Given the description of an element on the screen output the (x, y) to click on. 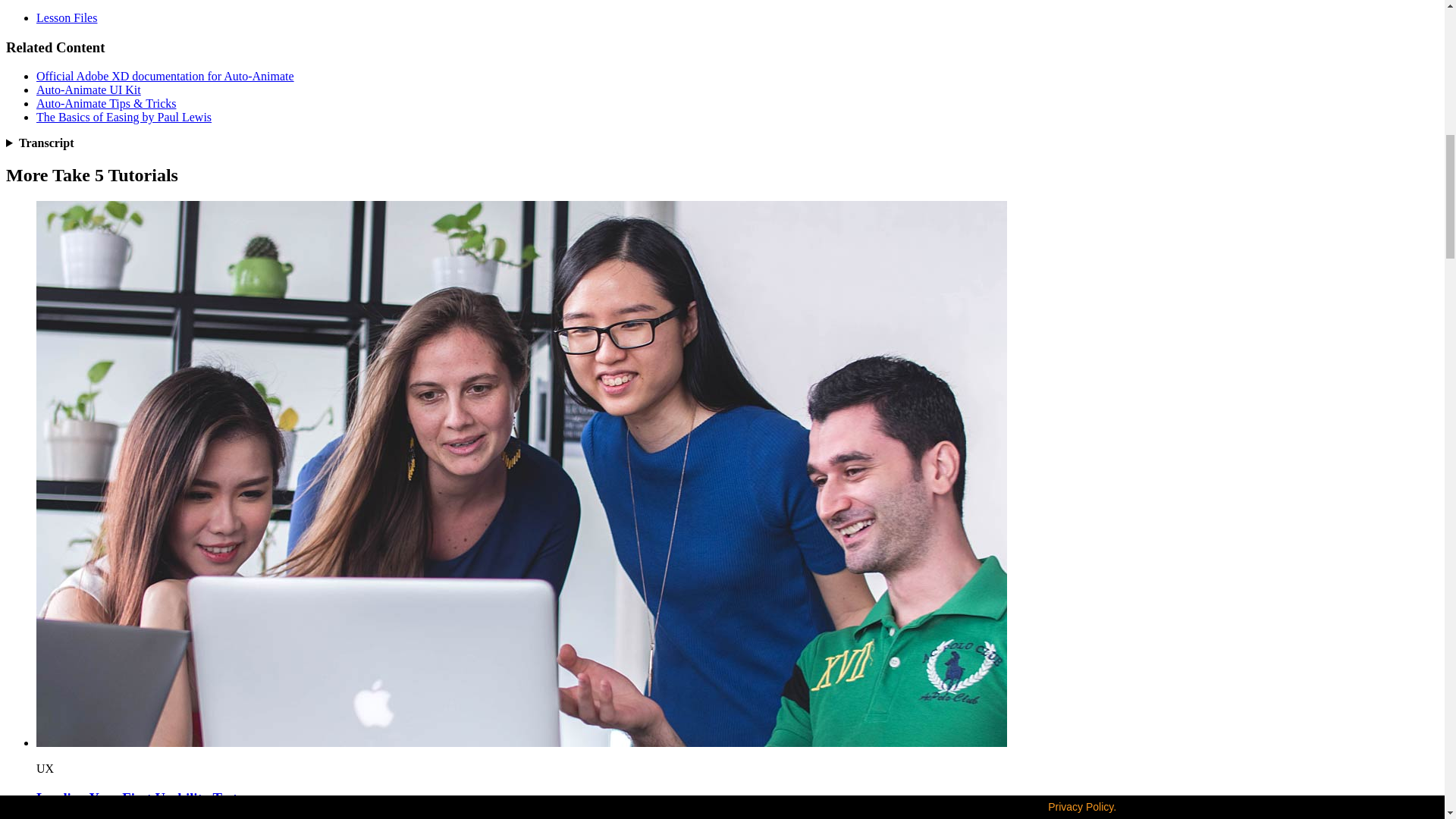
Leading Your First Usability Test (136, 797)
Official Adobe XD documentation for Auto-Animate (165, 75)
Watch Video (521, 742)
The Basics of Easing by Paul Lewis (123, 116)
Auto-Animate UI Kit (88, 89)
Lesson Files (66, 17)
